Given the description of an element on the screen output the (x, y) to click on. 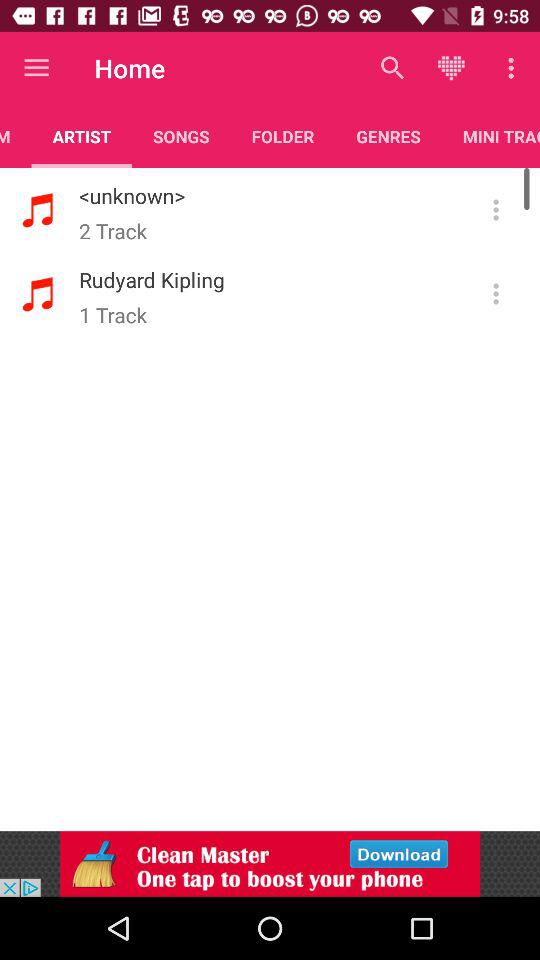
advertisement (270, 864)
